Given the description of an element on the screen output the (x, y) to click on. 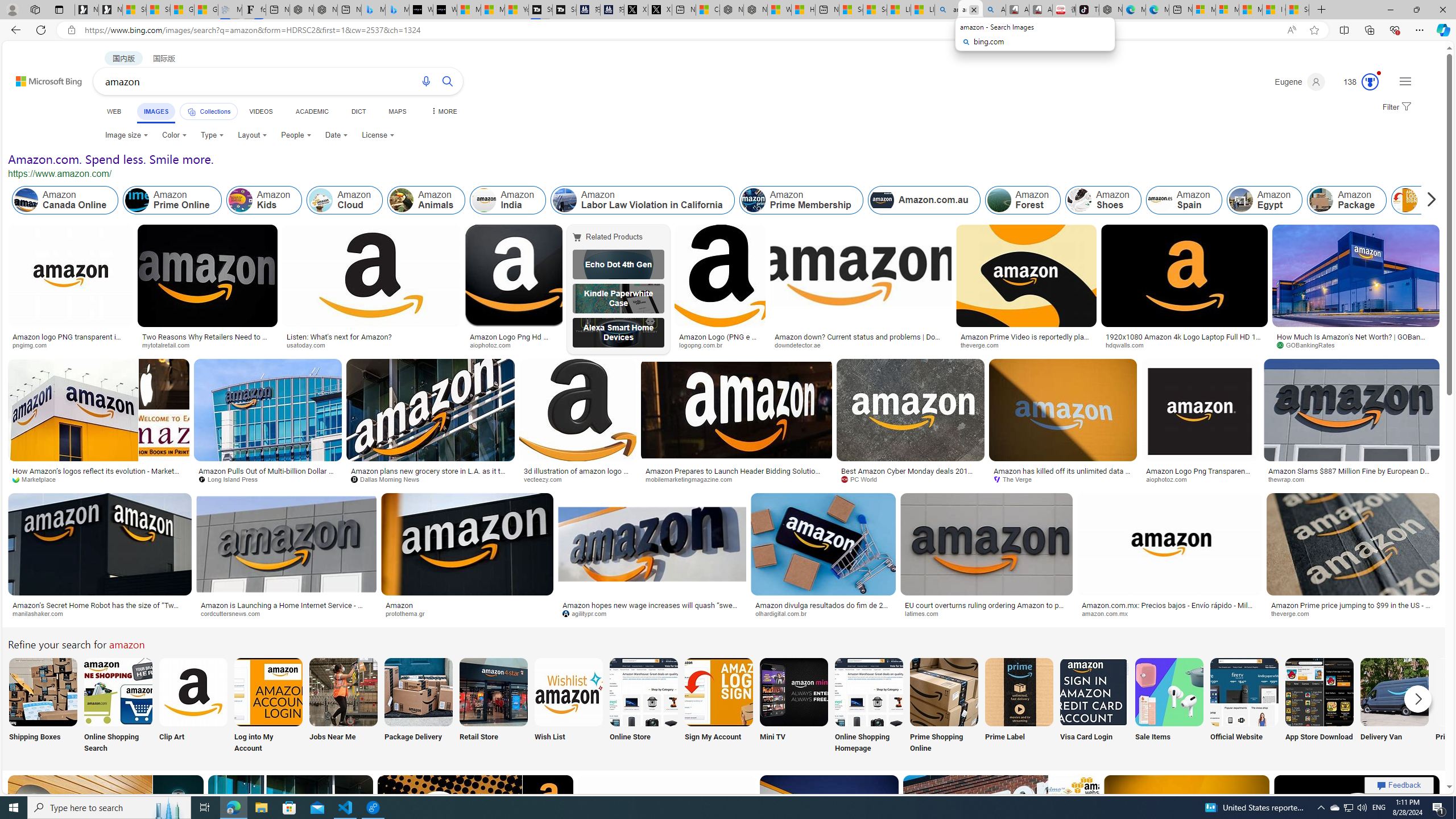
manilashaker.com (42, 612)
Amazon Jobs Near Me Jobs Near Me (342, 706)
Amazon Cloud (320, 200)
Amazon Online Shopping Search (118, 691)
hdqwalls.com (1128, 344)
Amazon.com.au (881, 200)
Marketplace (98, 479)
GOBankingRates (1309, 344)
MORE (443, 111)
Mini TV (794, 706)
